Given the description of an element on the screen output the (x, y) to click on. 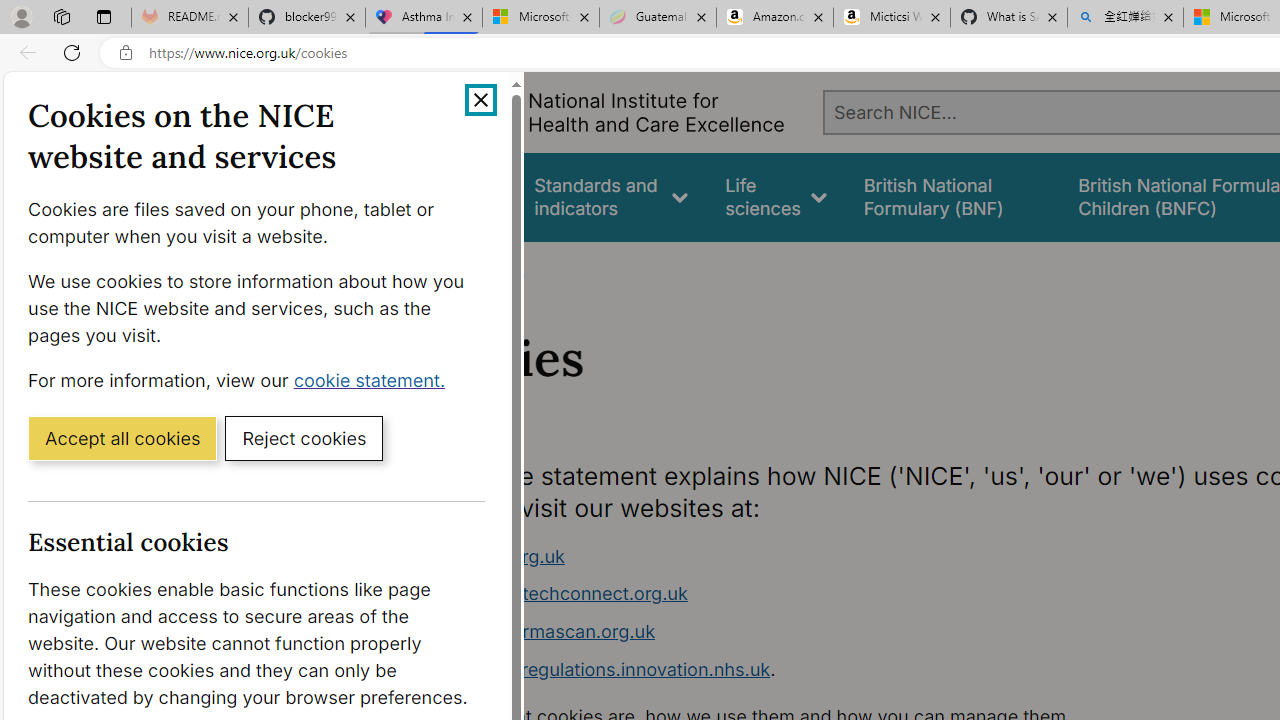
www.ukpharmascan.org.uk (796, 632)
Reject cookies (304, 437)
cookie statement. (Opens in a new window) (373, 379)
www.healthtechconnect.org.uk (796, 594)
Close cookie banner (480, 99)
